Given the description of an element on the screen output the (x, y) to click on. 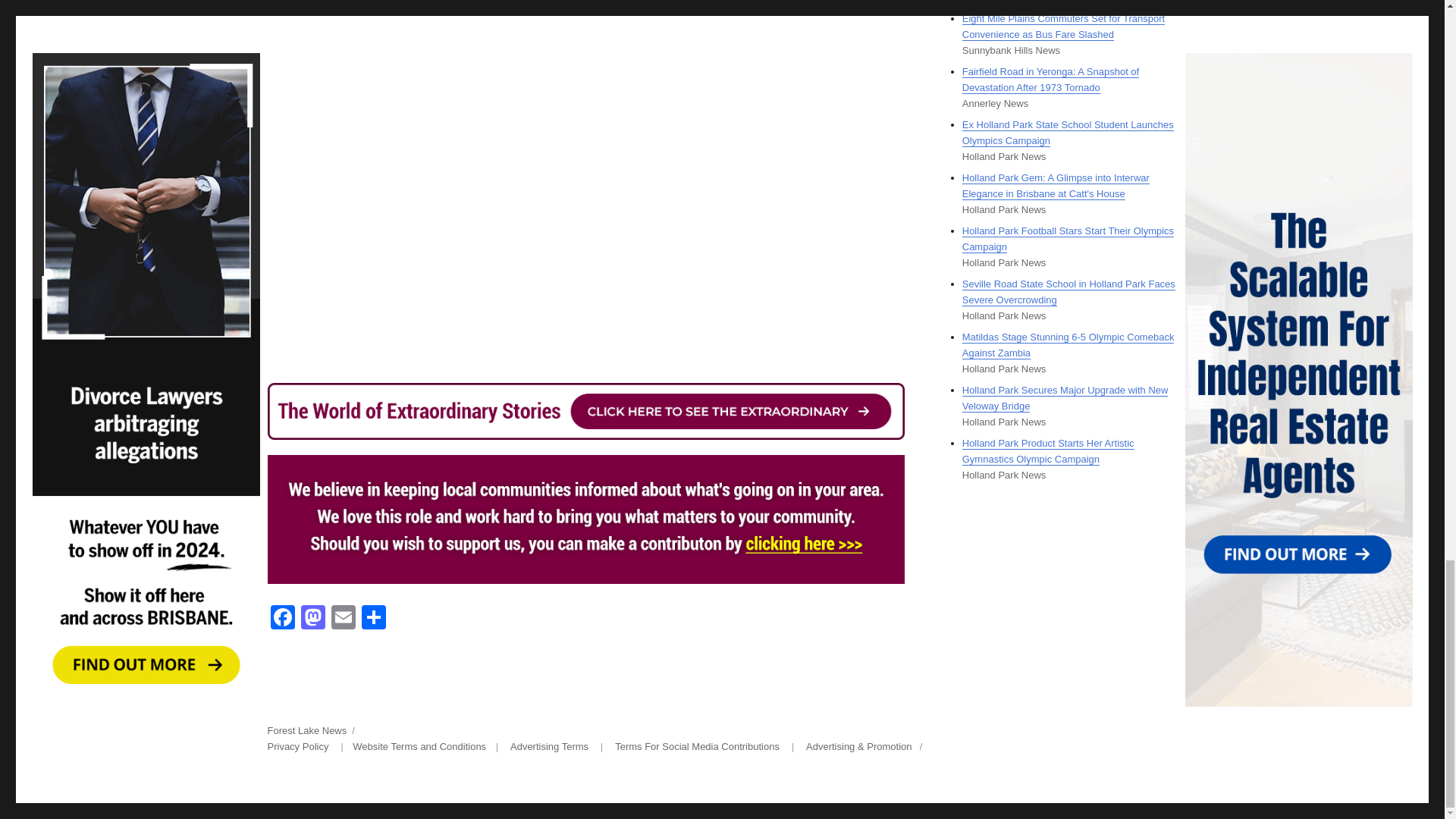
Mastodon (312, 619)
Facebook (281, 619)
Mastodon (312, 619)
Share (373, 619)
Facebook (281, 619)
Email (342, 619)
Email (342, 619)
